Given the description of an element on the screen output the (x, y) to click on. 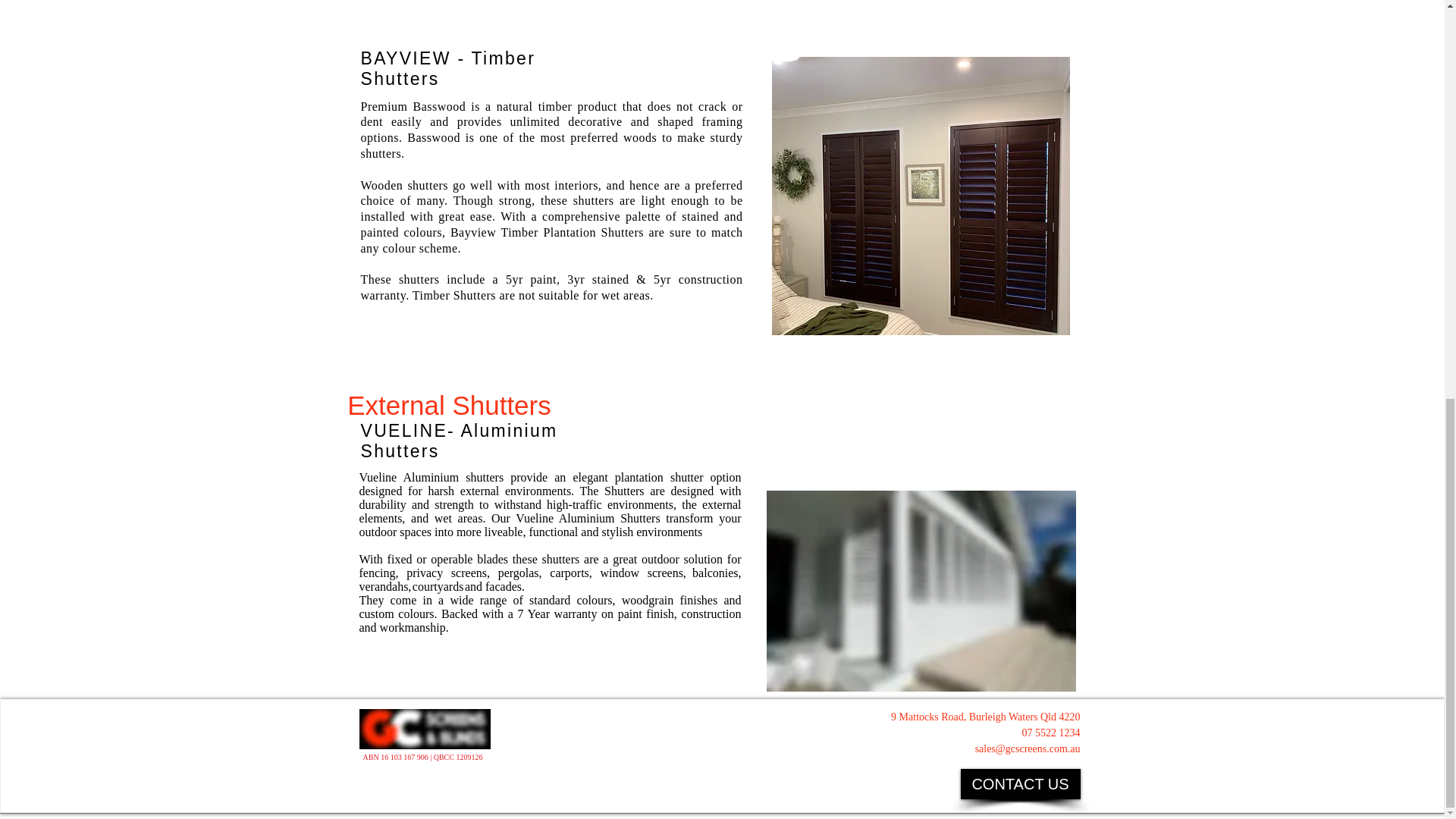
CONTACT US (1019, 784)
9 Mattocks Road, Burleigh Waters Qld 4220 (985, 716)
